Given the description of an element on the screen output the (x, y) to click on. 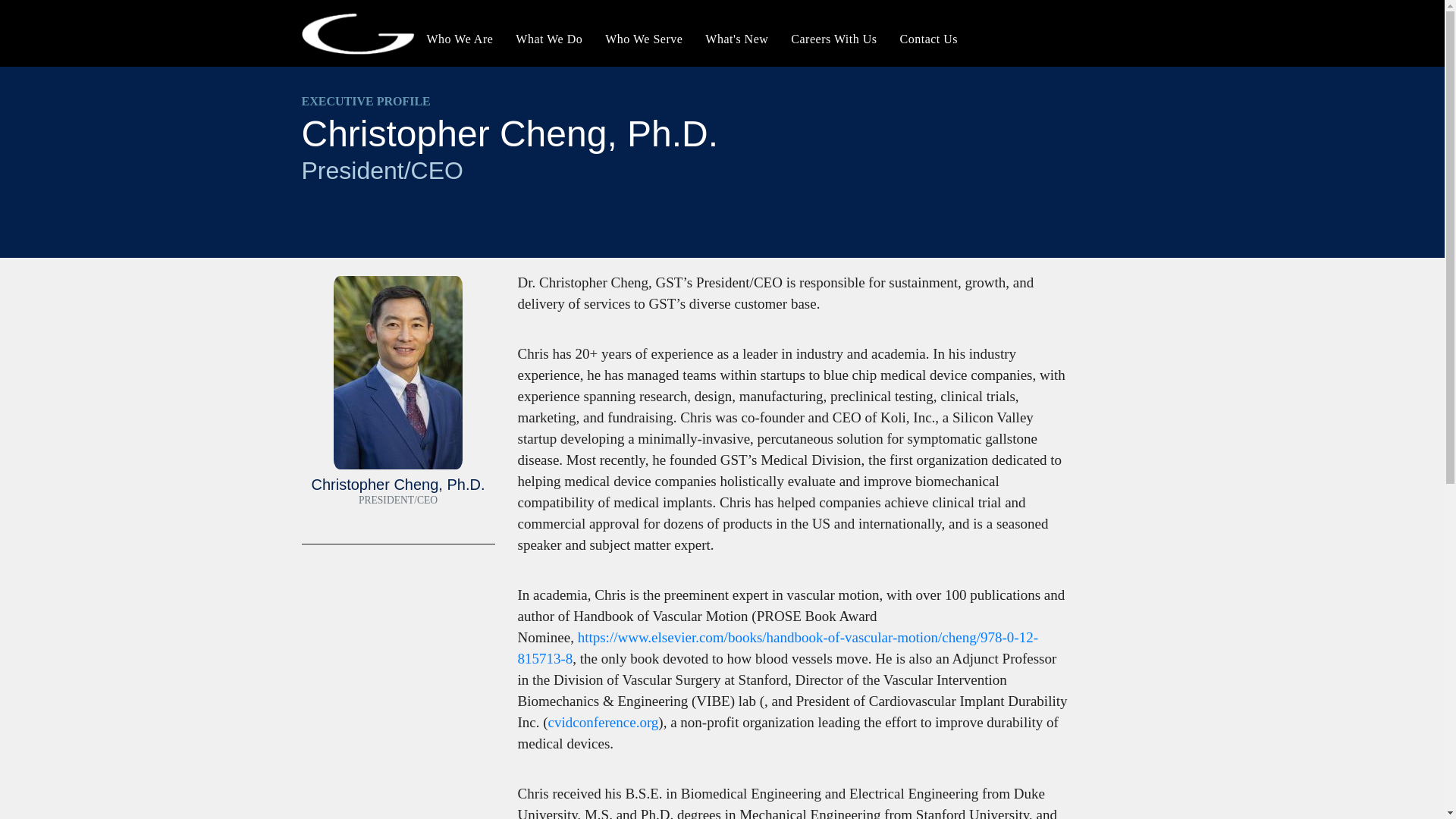
Contact Us (928, 39)
Who We Serve (644, 39)
What We Do (548, 39)
cvidconference.org (603, 722)
Who We Are (459, 39)
Careers With Us (833, 39)
What's New (736, 39)
